Given the description of an element on the screen output the (x, y) to click on. 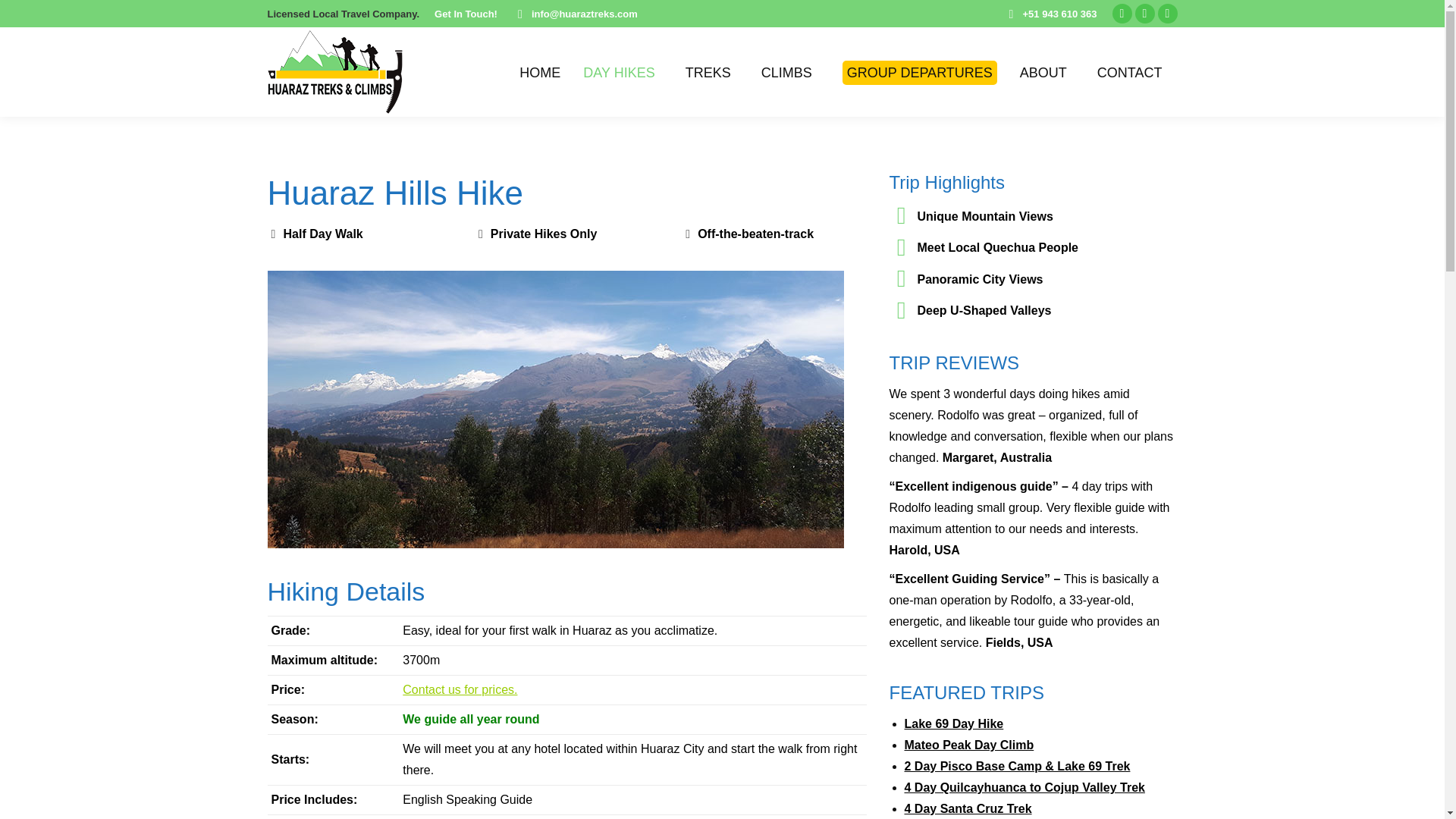
TripAdvisor page opens in new window (1166, 13)
DAY HIKES (622, 71)
Instagram page opens in new window (1144, 13)
Facebook page opens in new window (1121, 13)
TREKS (711, 71)
TripAdvisor page opens in new window (1166, 13)
Facebook page opens in new window (1121, 13)
HOME (539, 71)
Instagram page opens in new window (1144, 13)
